Given the description of an element on the screen output the (x, y) to click on. 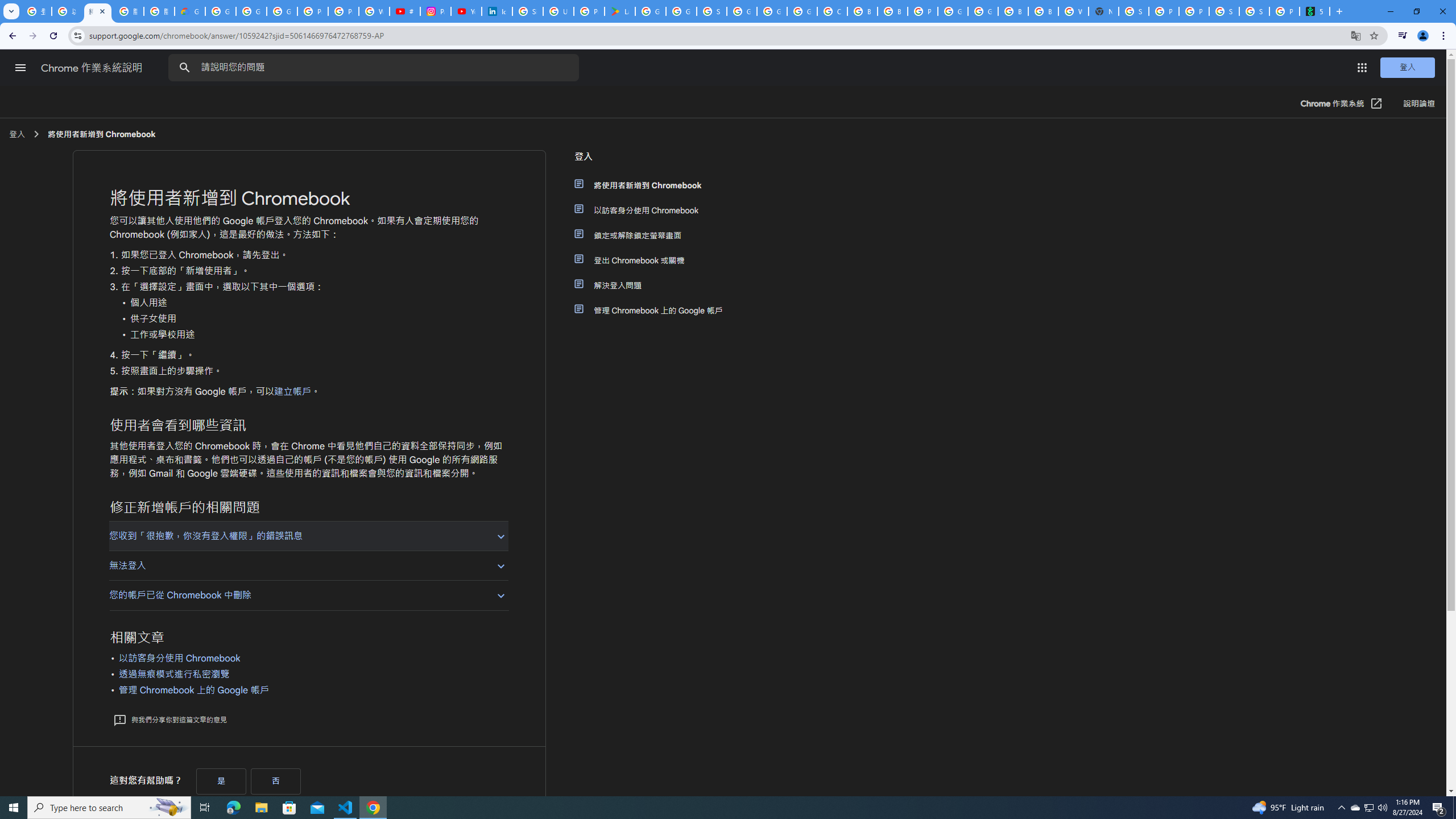
Google Cloud Platform (982, 11)
Sign in - Google Accounts (1133, 11)
Reload (52, 35)
Chrome (1445, 35)
YouTube Culture & Trends - On The Rise: Handcam Videos (465, 11)
View site information (77, 35)
Search tabs (10, 11)
Last Shelter: Survival - Apps on Google Play (619, 11)
